Given the description of an element on the screen output the (x, y) to click on. 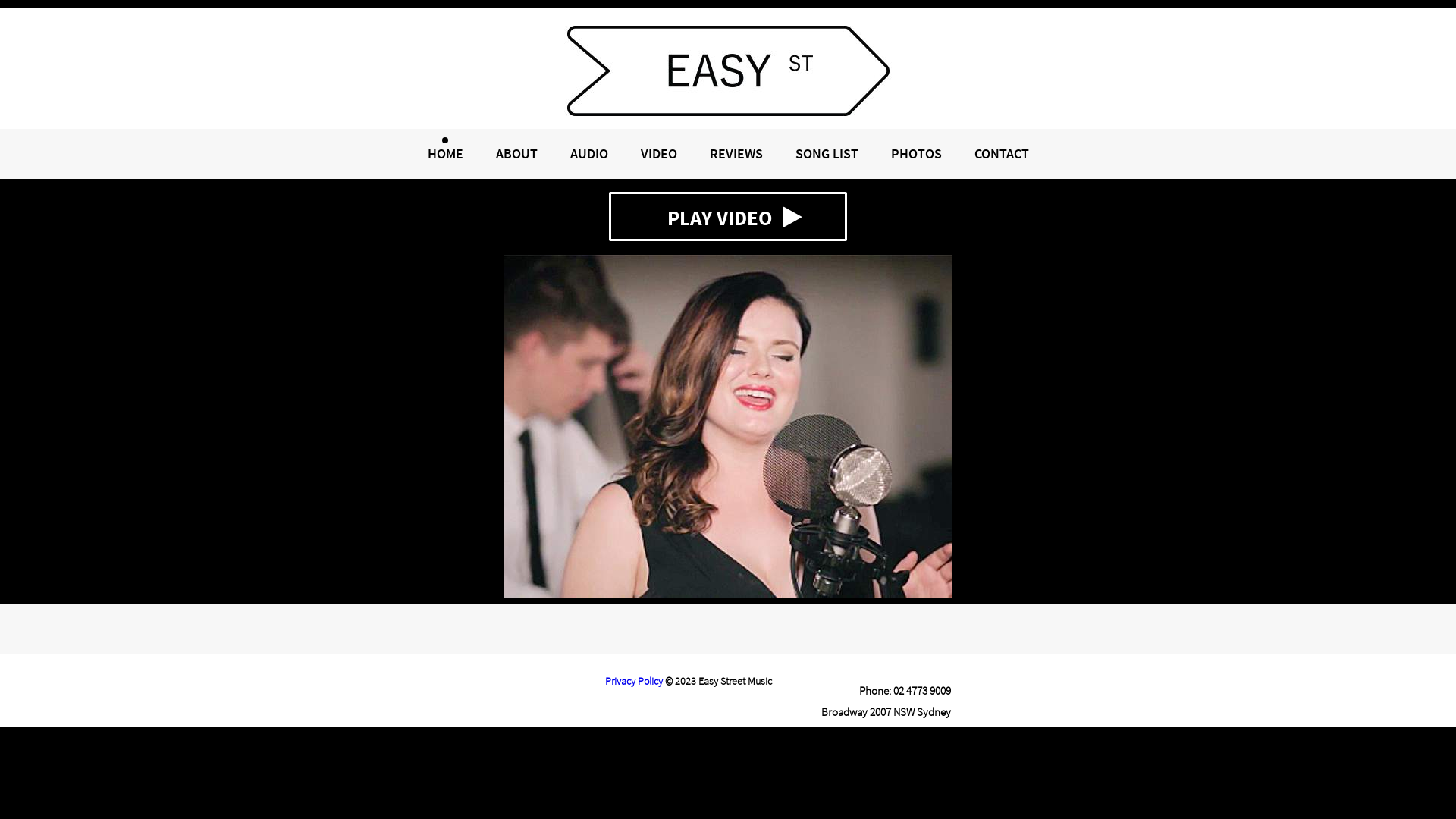
PLAY VIDEO Element type: text (727, 216)
Privacy Policy Element type: text (633, 680)
SONG LIST Element type: text (825, 153)
REVIEWS Element type: text (735, 153)
CONTACT Element type: text (1000, 153)
HOME Element type: text (445, 153)
PHOTOS Element type: text (915, 153)
VIDEO Element type: text (658, 153)
AUDIO Element type: text (589, 153)
ABOUT Element type: text (516, 153)
